Given the description of an element on the screen output the (x, y) to click on. 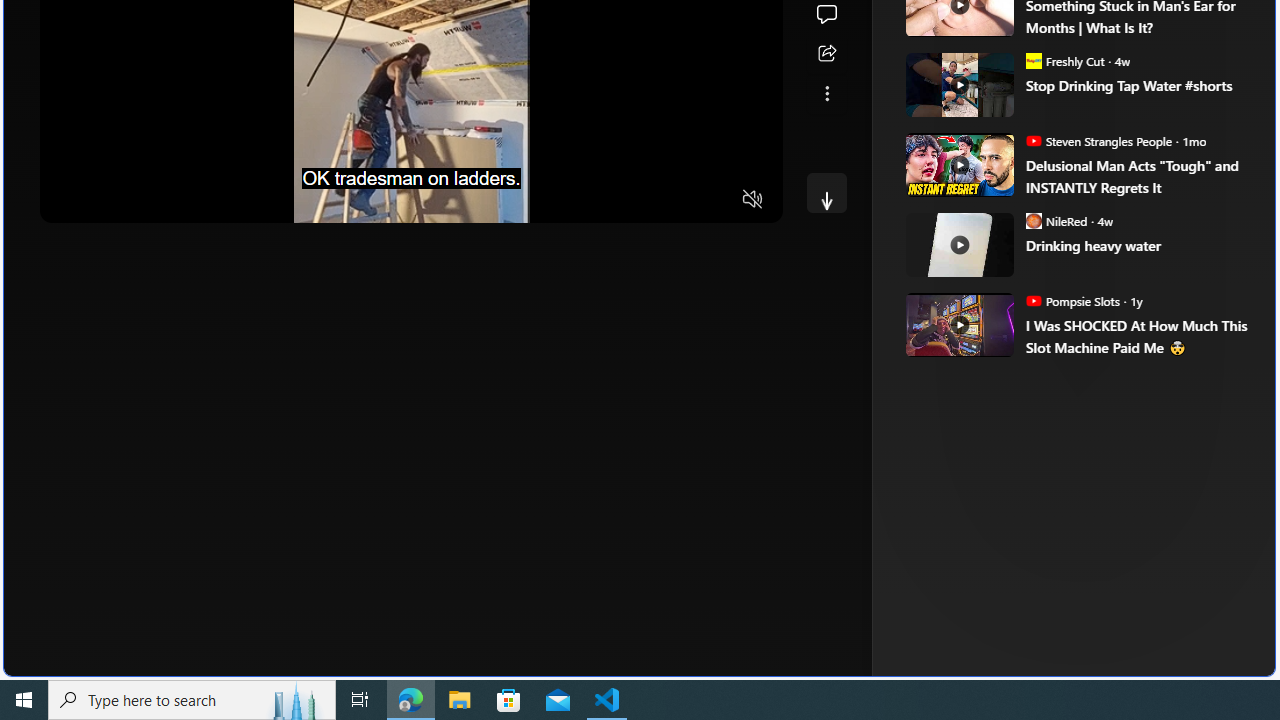
Fullscreen (714, 200)
Pompsie Slots (1033, 300)
See more (826, 93)
Delusional Man Acts "Tough" and INSTANTLY Regrets It (1136, 176)
ABC News (974, 12)
NileRed NileRed (1056, 219)
Progress Bar (411, 174)
Unmute (753, 200)
